Given the description of an element on the screen output the (x, y) to click on. 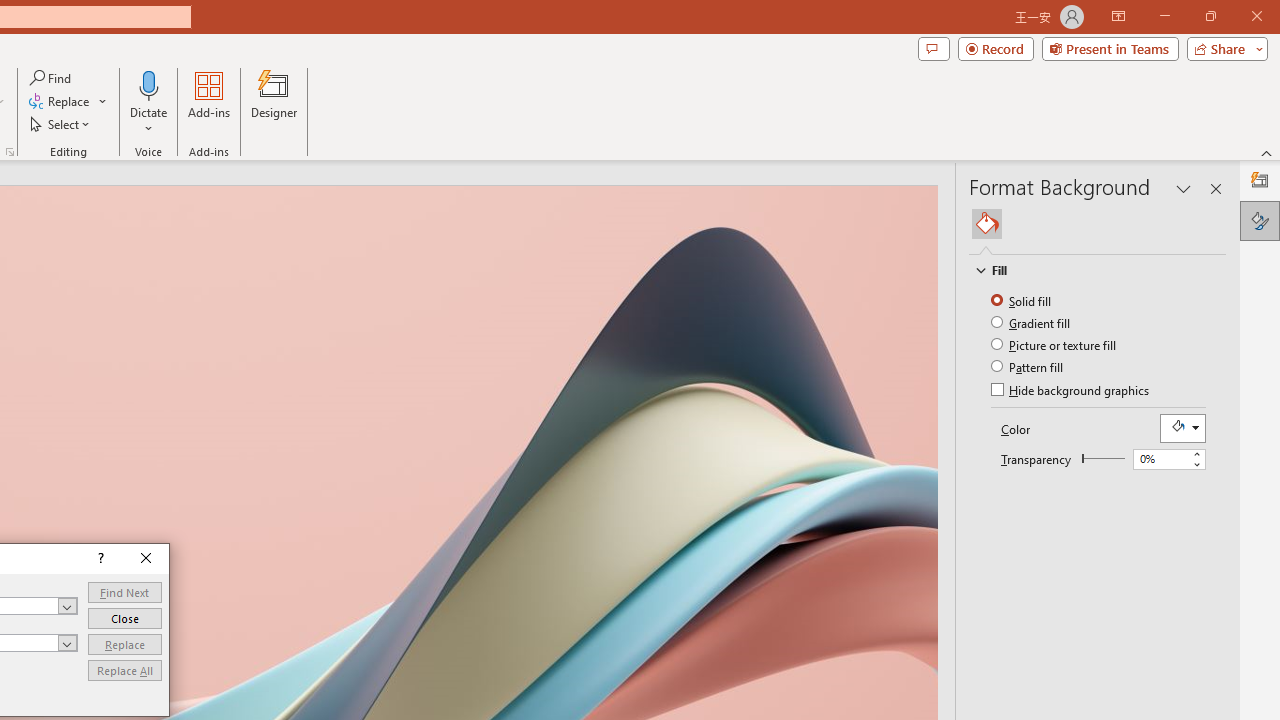
Replace (124, 643)
Page right (1106, 458)
Format Background (1260, 220)
Find Next (124, 592)
Picture or texture fill (1055, 344)
Class: NetUIGalleryContainer (1098, 223)
Pattern fill (1028, 366)
Fill (1088, 269)
